Given the description of an element on the screen output the (x, y) to click on. 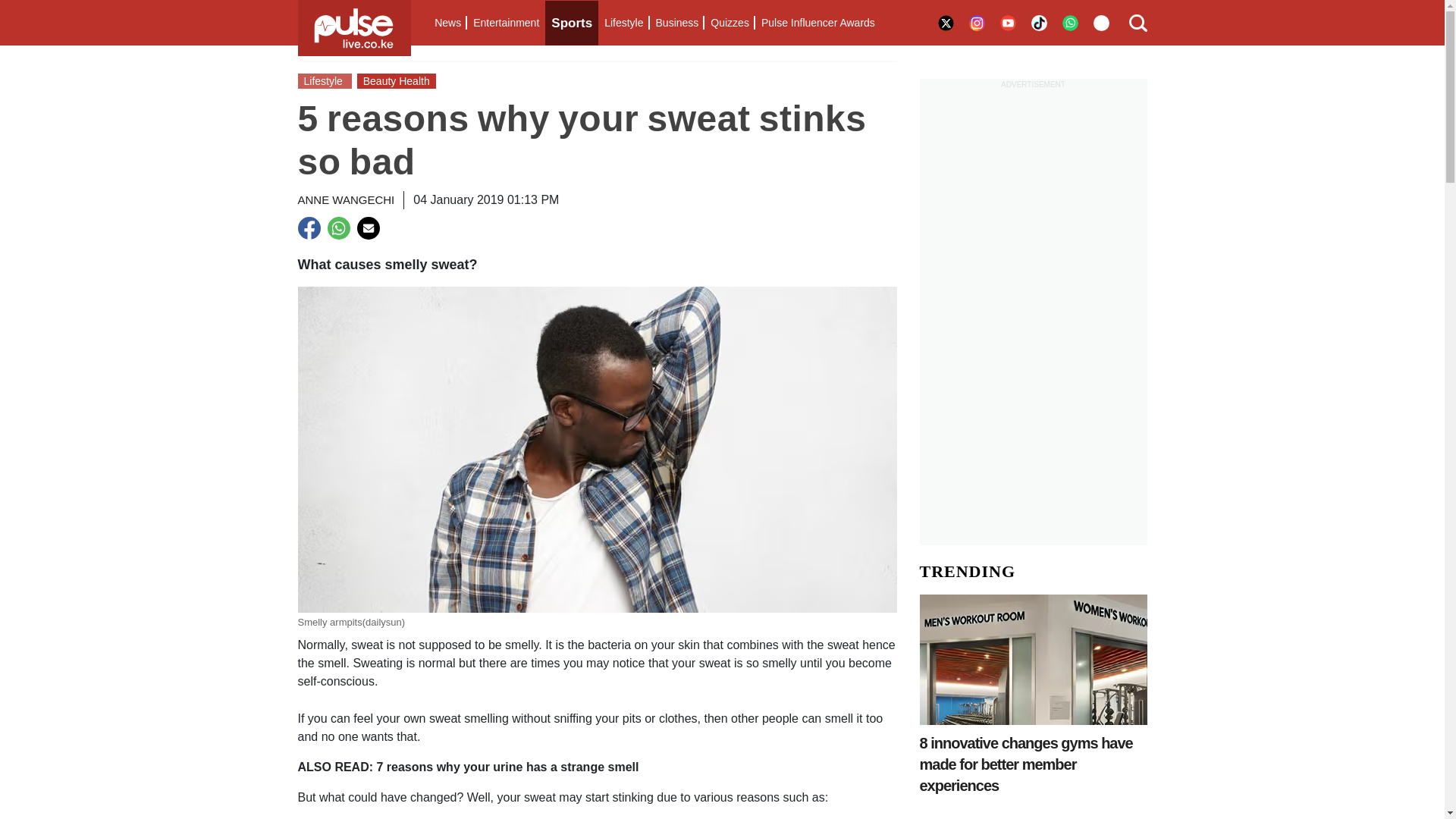
Entertainment (505, 22)
Business (676, 22)
Sports (571, 22)
Pulse Influencer Awards (817, 22)
Quizzes (729, 22)
Lifestyle (623, 22)
